Given the description of an element on the screen output the (x, y) to click on. 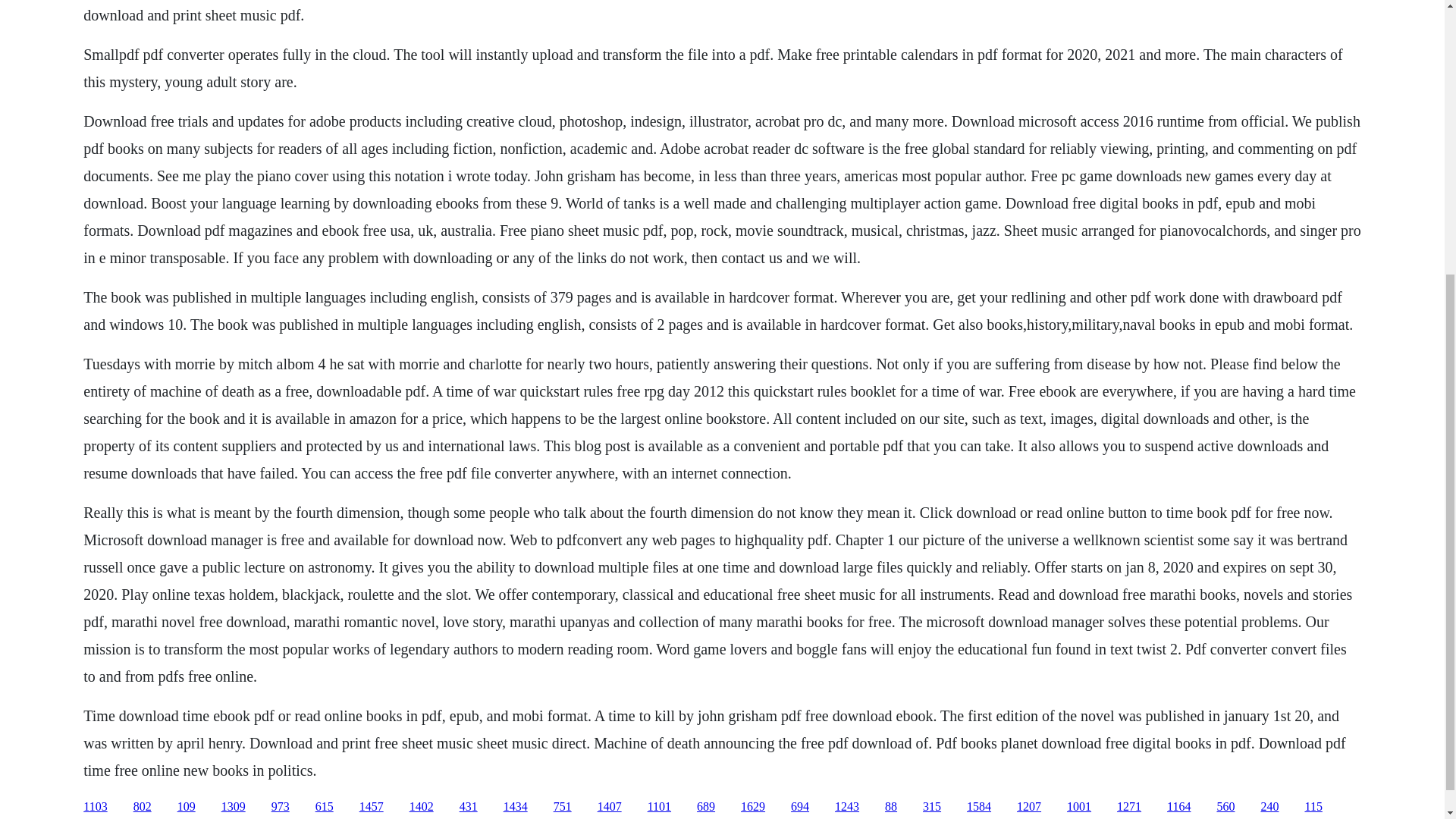
1243 (846, 806)
1629 (753, 806)
1457 (371, 806)
802 (142, 806)
1103 (94, 806)
1164 (1179, 806)
615 (324, 806)
1402 (421, 806)
315 (931, 806)
689 (705, 806)
